Given the description of an element on the screen output the (x, y) to click on. 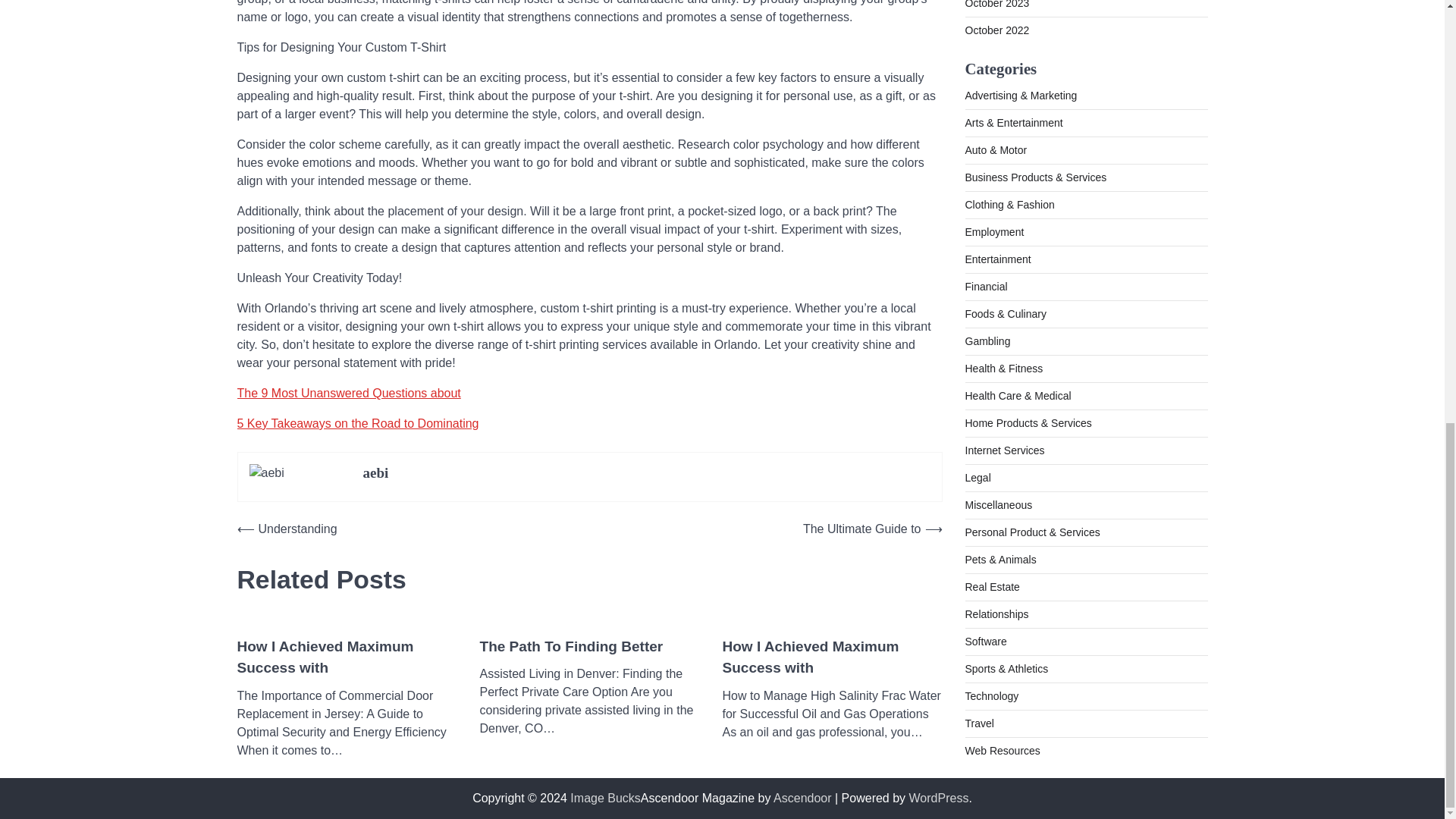
The 9 Most Unanswered Questions about (347, 392)
Entertainment (996, 126)
Employment (993, 99)
5 Key Takeaways on the Road to Dominating (357, 422)
How I Achieved Maximum Success with (346, 657)
How I Achieved Maximum Success with (832, 657)
The Path To Finding Better (570, 647)
